Given the description of an element on the screen output the (x, y) to click on. 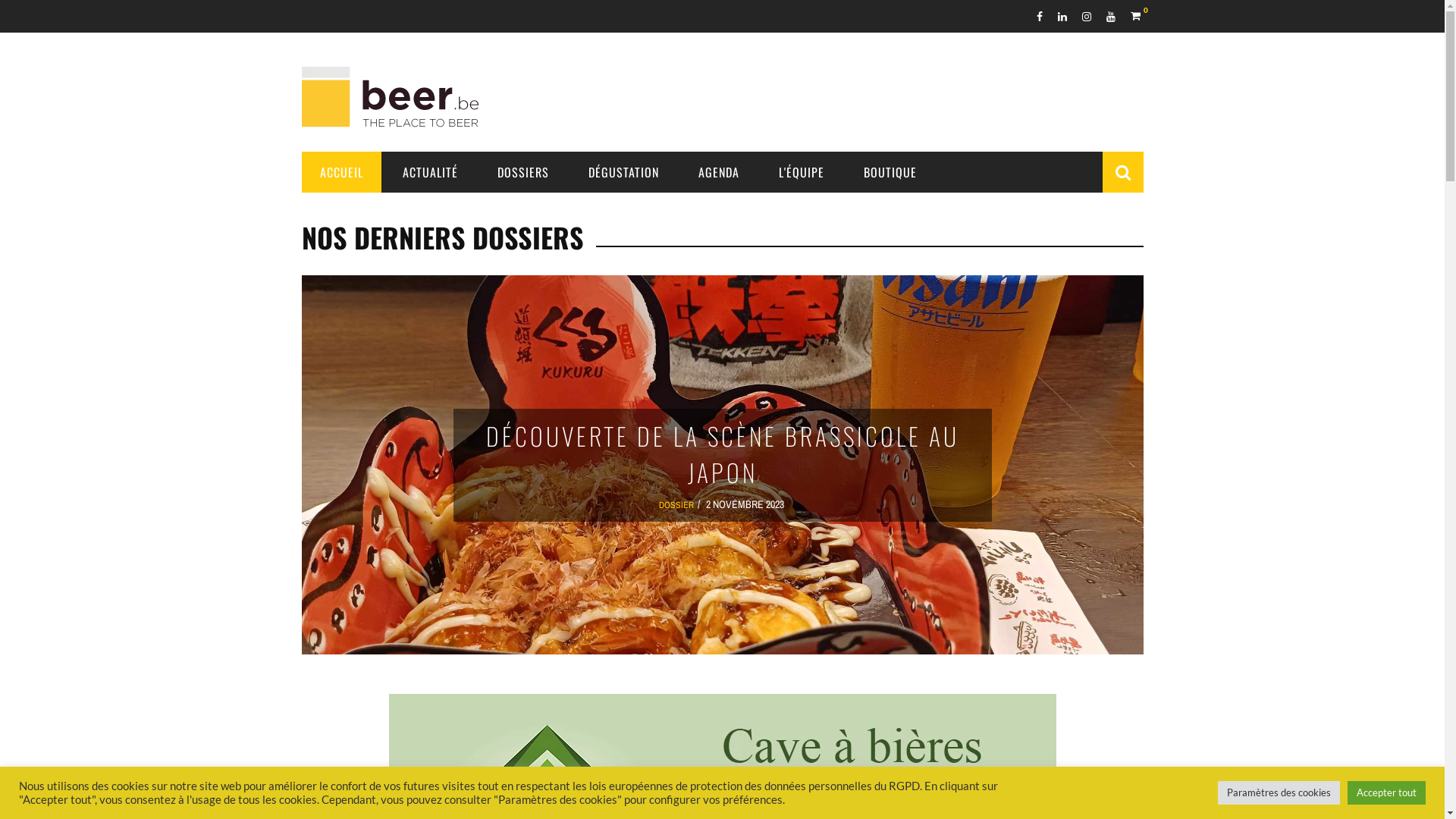
DOSSIERS Element type: text (523, 172)
Accepter tout Element type: text (1386, 792)
DOSSIER Element type: text (675, 504)
BOUTIQUE Element type: text (889, 172)
0 Element type: text (1135, 15)
ACCUEIL Element type: text (341, 172)
AGENDA Element type: text (717, 172)
